Given the description of an element on the screen output the (x, y) to click on. 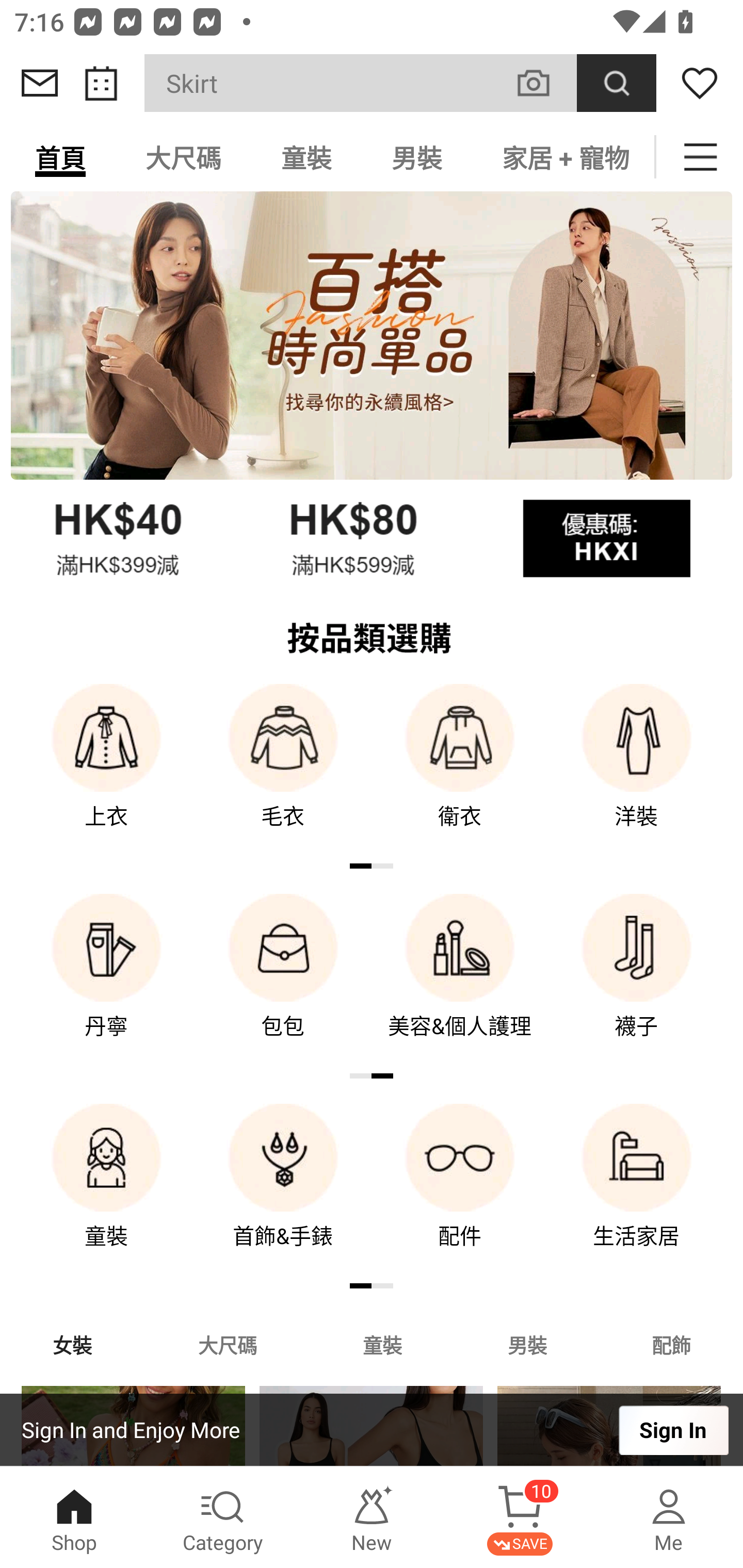
Wishlist (699, 82)
VISUAL SEARCH (543, 82)
首頁 (60, 156)
大尺碼 (183, 156)
童裝 (306, 156)
男裝 (416, 156)
家居 + 寵物 (563, 156)
上衣 (105, 769)
毛衣 (282, 769)
衛衣 (459, 769)
洋裝 (636, 769)
丹寧 (105, 979)
包包 (282, 979)
美容&個人護理 (459, 979)
襪子 (636, 979)
童裝 (105, 1189)
首飾&手錶 (282, 1189)
配件 (459, 1189)
生活家居 (636, 1189)
女裝 (72, 1344)
大尺碼 (226, 1344)
童裝 (381, 1344)
男裝 (527, 1344)
配飾 (671, 1344)
Sign In and Enjoy More Sign In (371, 1429)
Category (222, 1517)
New (371, 1517)
Cart 10 SAVE (519, 1517)
Me (668, 1517)
